Given the description of an element on the screen output the (x, y) to click on. 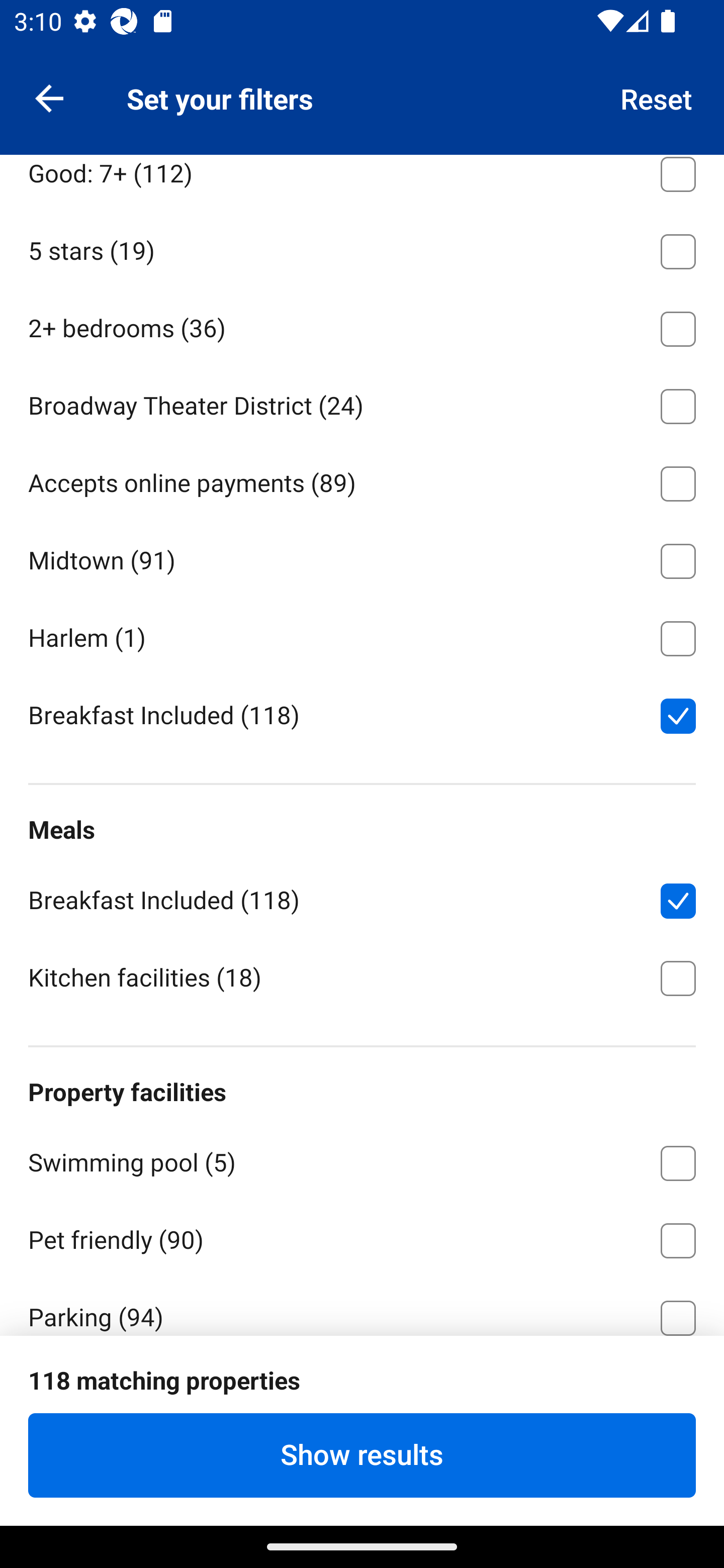
Navigate up (49, 97)
Reset (656, 97)
Good: 7+ ⁦(112) (361, 182)
5 stars ⁦(19) (361, 248)
2+ bedrooms ⁦(36) (361, 324)
Broadway Theater District ⁦(24) (361, 402)
Accepts online payments ⁦(89) (361, 480)
Midtown ⁦(91) (361, 557)
Harlem ⁦(1) (361, 634)
Breakfast Included ⁦(118) (361, 714)
Breakfast Included ⁦(118) (361, 897)
Kitchen facilities ⁦(18) (361, 976)
Swimming pool ⁦(5) (361, 1159)
Pet friendly ⁦(90) (361, 1236)
Parking ⁦(94) (361, 1305)
Free WiFi ⁦(102) (361, 1391)
Show results (361, 1454)
